Given the description of an element on the screen output the (x, y) to click on. 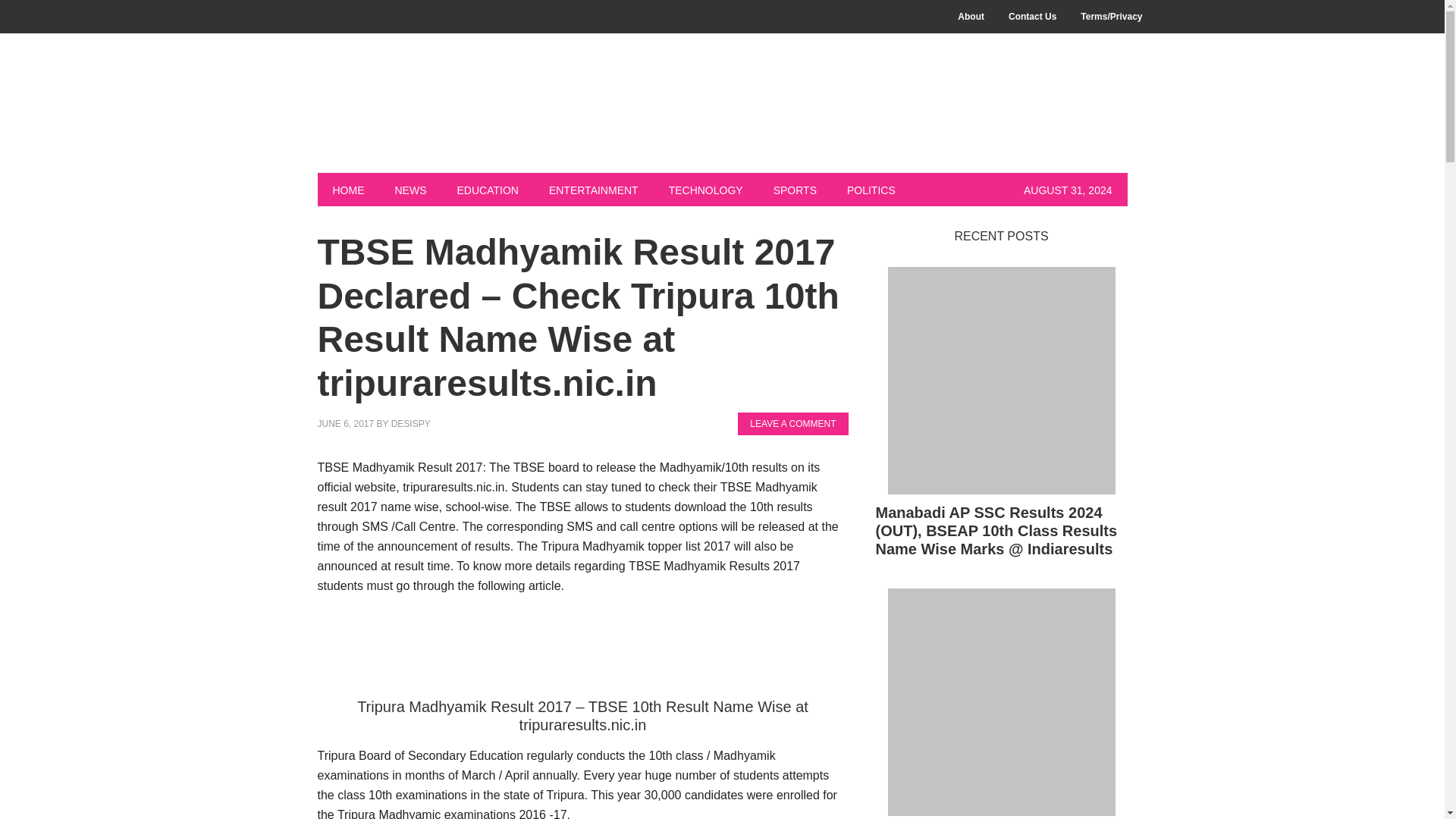
About (969, 16)
HOME (347, 189)
EDUCATION (486, 189)
TECHNOLOGY (705, 189)
DESISPY (410, 423)
LEAVE A COMMENT (792, 423)
DESISPY.COM (419, 115)
NEWS (409, 189)
SPORTS (794, 189)
